Given the description of an element on the screen output the (x, y) to click on. 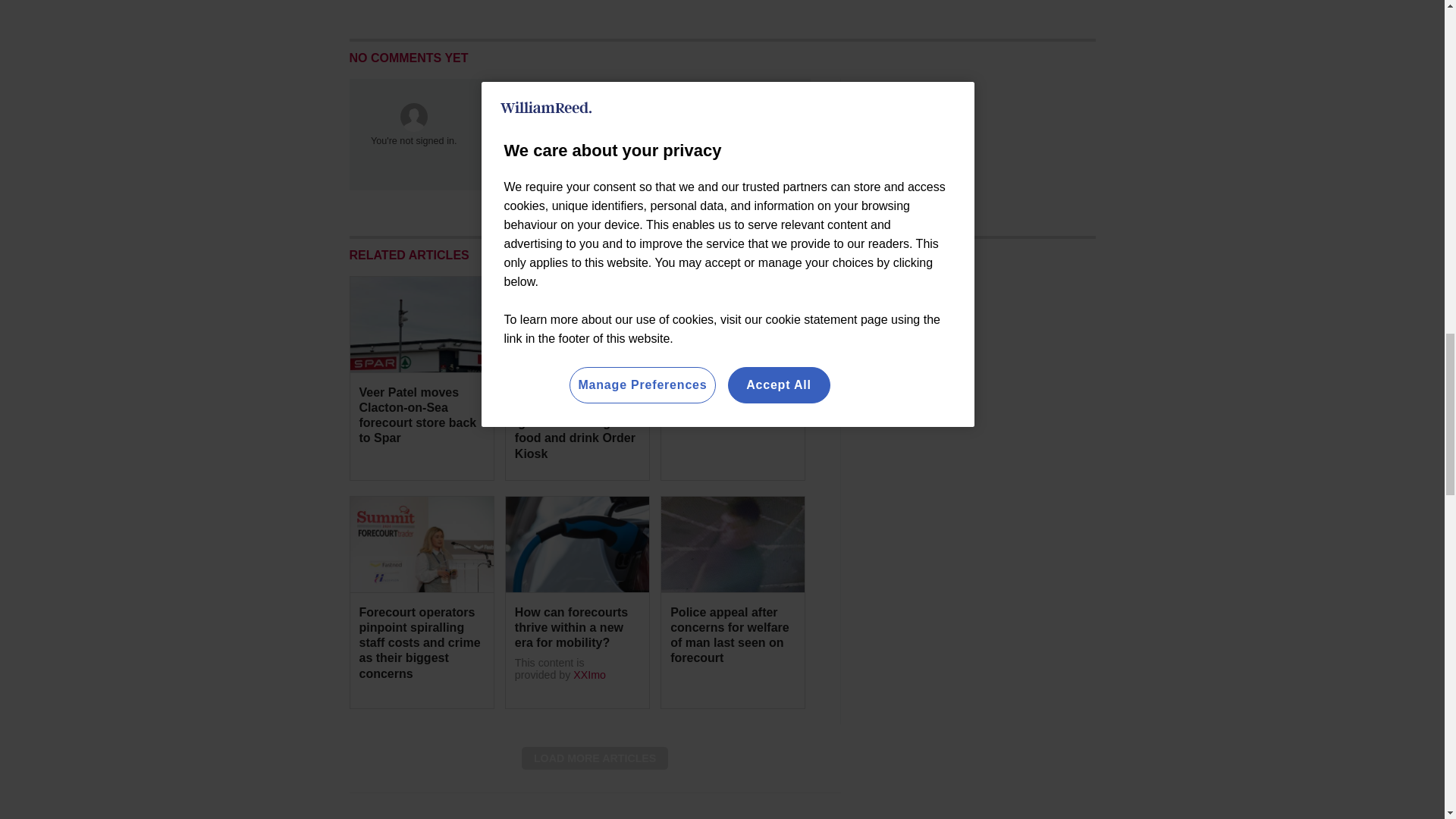
3rd party ad content (980, 371)
